Given the description of an element on the screen output the (x, y) to click on. 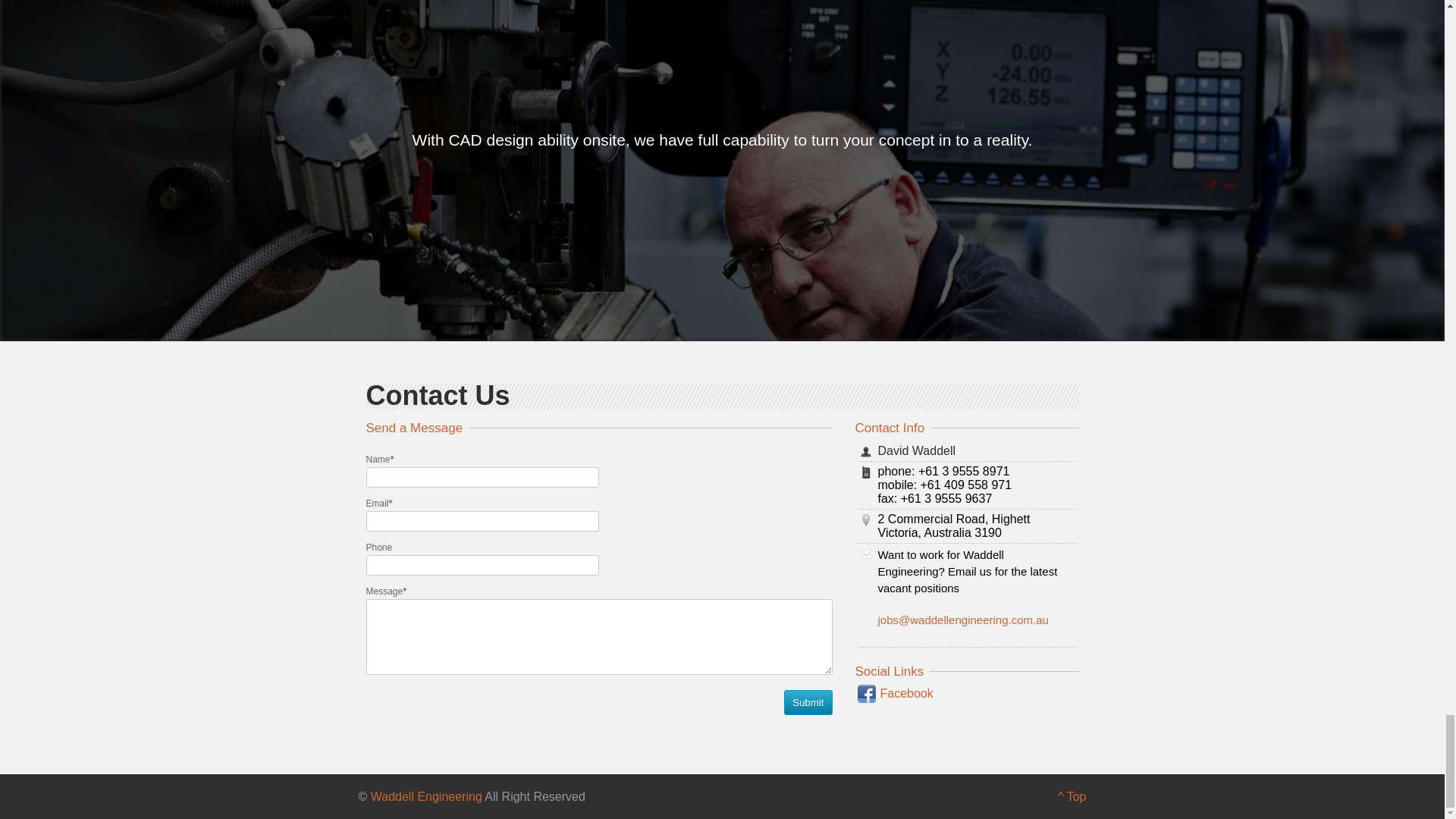
Submit (807, 702)
